Given the description of an element on the screen output the (x, y) to click on. 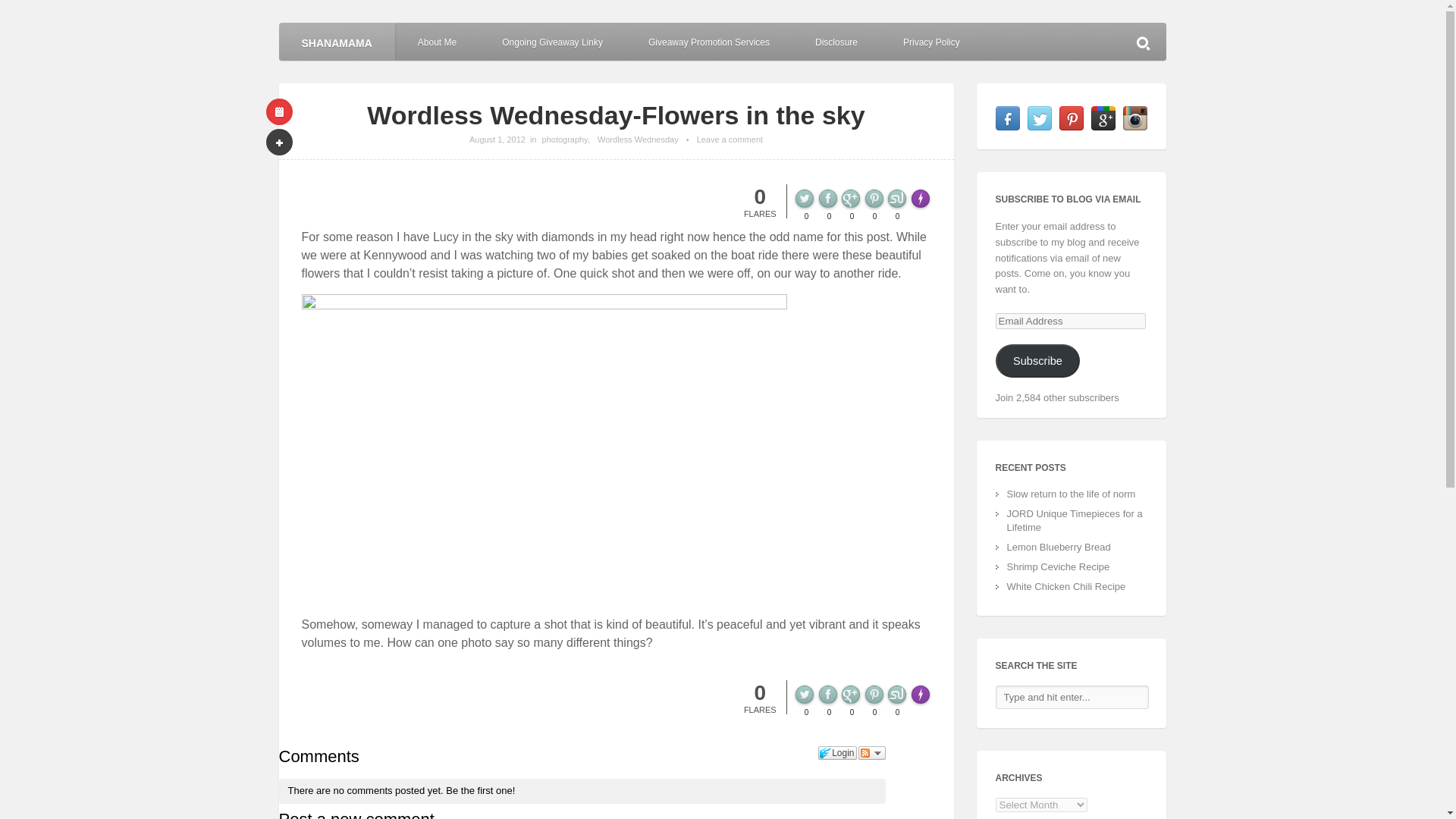
Disclosure (836, 41)
Wordless Wednesday (637, 139)
Login (837, 753)
Wordless Wednesday-Flowers in the sky (496, 139)
photography (564, 139)
Giveaway Promotion Services (709, 41)
Leave a comment (729, 139)
SHANAMAMA (336, 41)
Privacy Policy (931, 41)
About Me (436, 41)
